Given the description of an element on the screen output the (x, y) to click on. 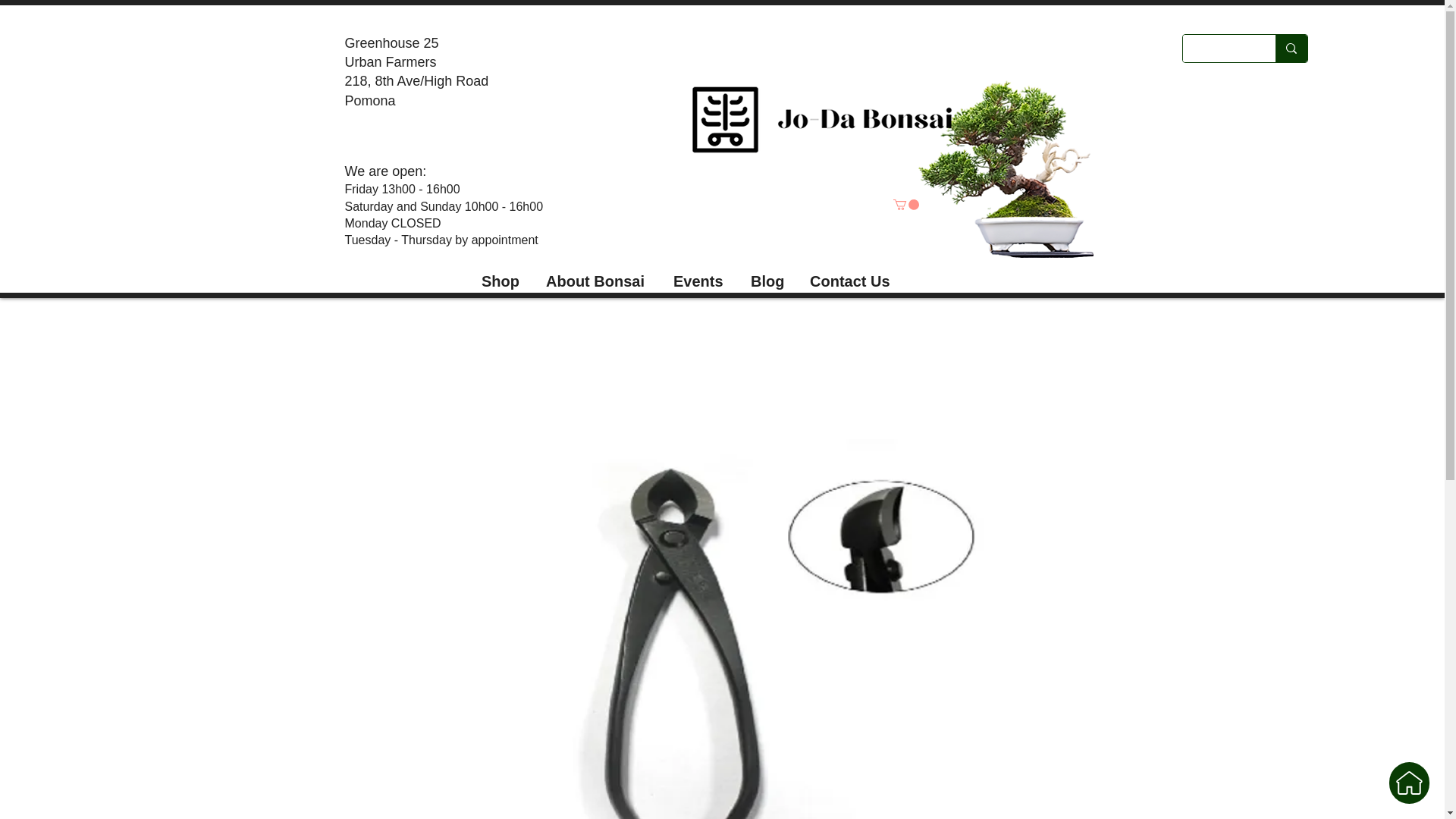
Blog (766, 274)
Shop (499, 274)
About Bonsai (595, 274)
Contact Us (850, 274)
Events (697, 274)
